Given the description of an element on the screen output the (x, y) to click on. 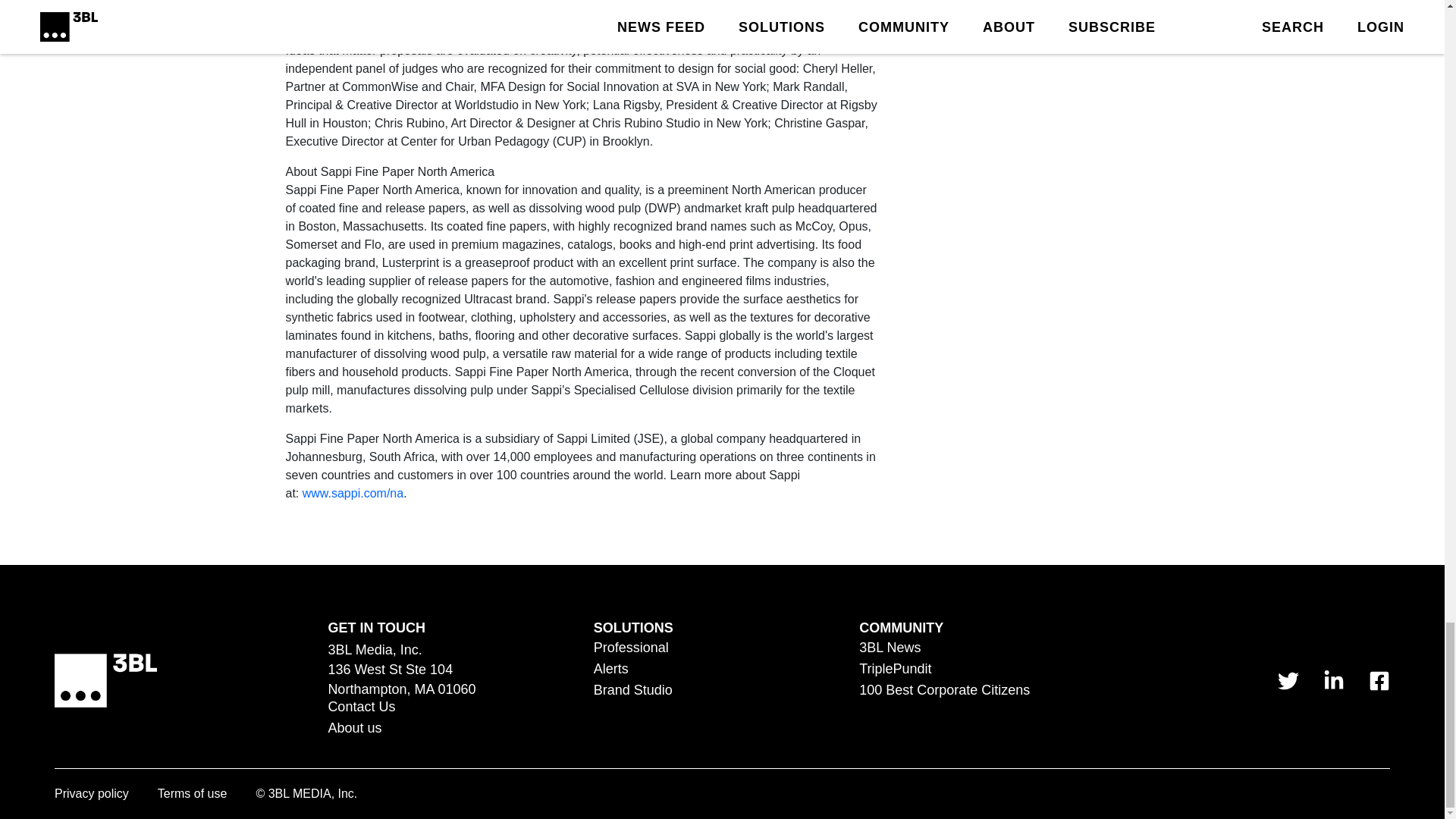
link to 3 B L Media's Twitter (1288, 680)
link to 3 B L Media's Facebook (1379, 680)
link to 3 B L Media's Linkedin (1333, 680)
